Given the description of an element on the screen output the (x, y) to click on. 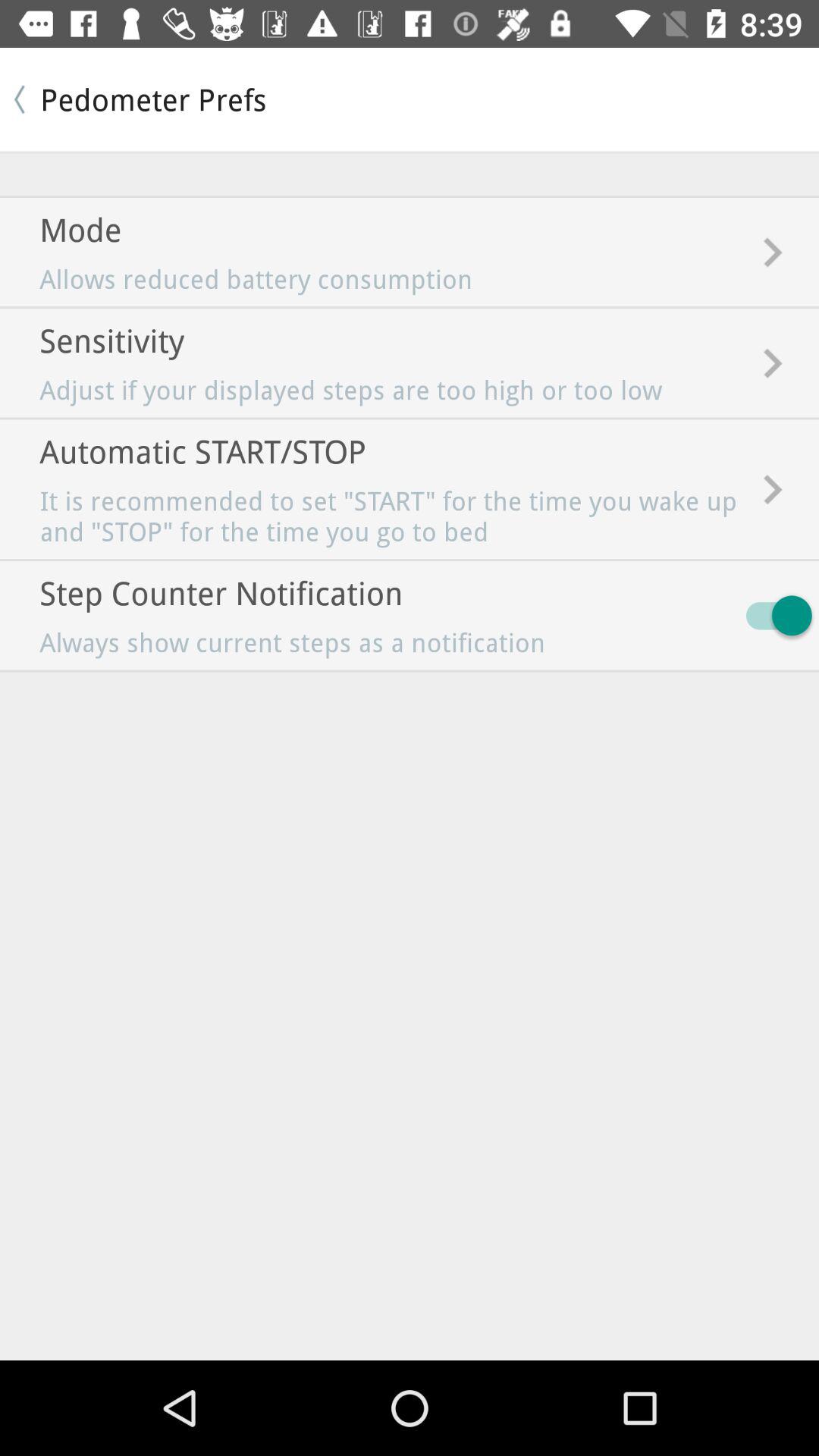
choose the item to the right of the always show current (771, 615)
